Given the description of an element on the screen output the (x, y) to click on. 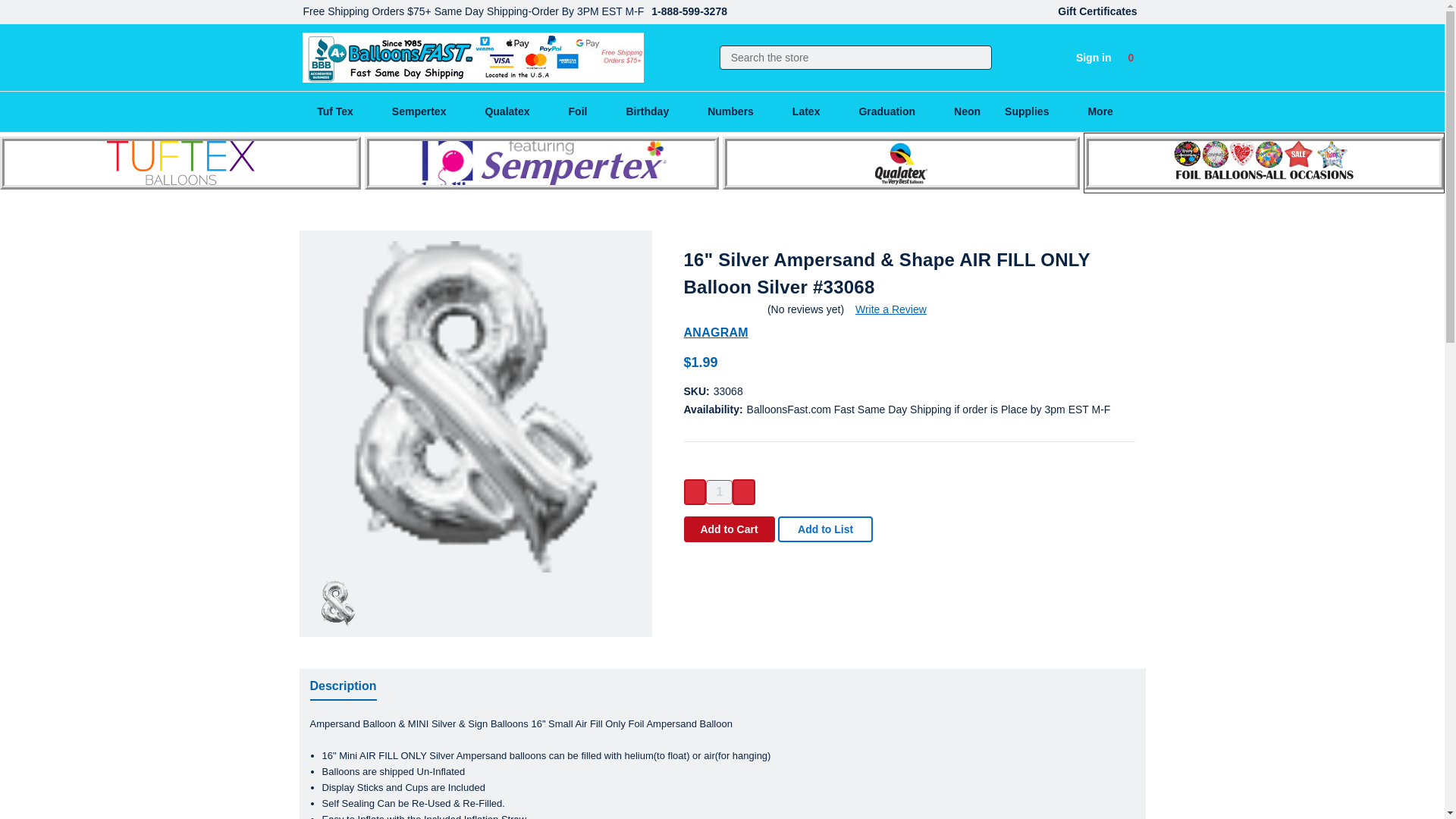
Sign in (1093, 57)
1 (719, 491)
ampersand balloon (338, 603)
ampersand balloon (474, 406)
Gift Certificates (1096, 11)
Add to Cart (729, 529)
Tuf Tex (342, 111)
0 (1130, 57)
